Given the description of an element on the screen output the (x, y) to click on. 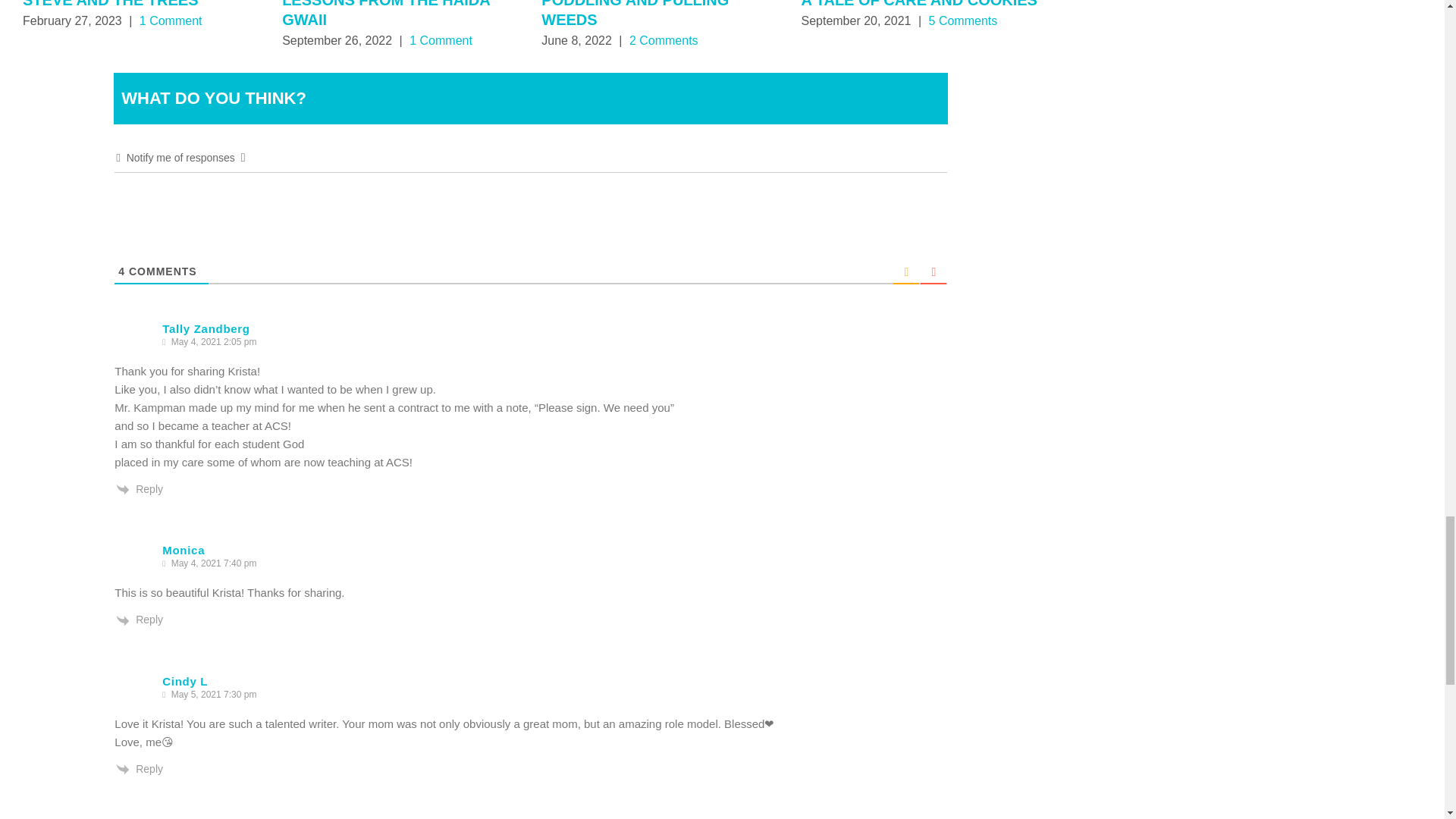
STEVE AND THE TREES (110, 4)
PODDLING AND PULLING WEEDS (635, 13)
LESSONS FROM THE HAIDA GWAII (385, 13)
